Given the description of an element on the screen output the (x, y) to click on. 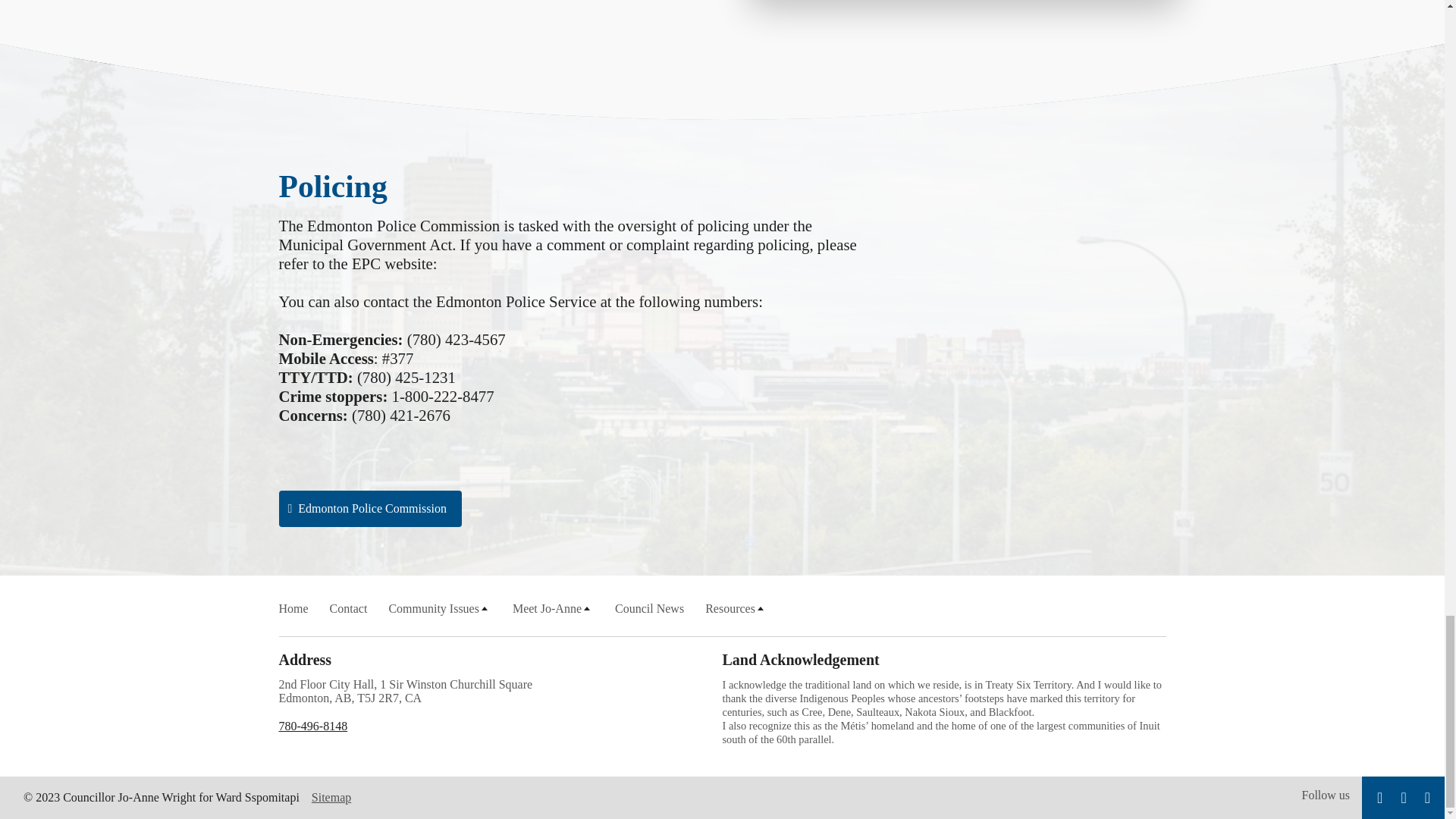
Contact (349, 608)
Edmonton Police Commission (370, 508)
Meet Jo-Anne (553, 608)
Home (293, 608)
Community Issues (440, 608)
